Given the description of an element on the screen output the (x, y) to click on. 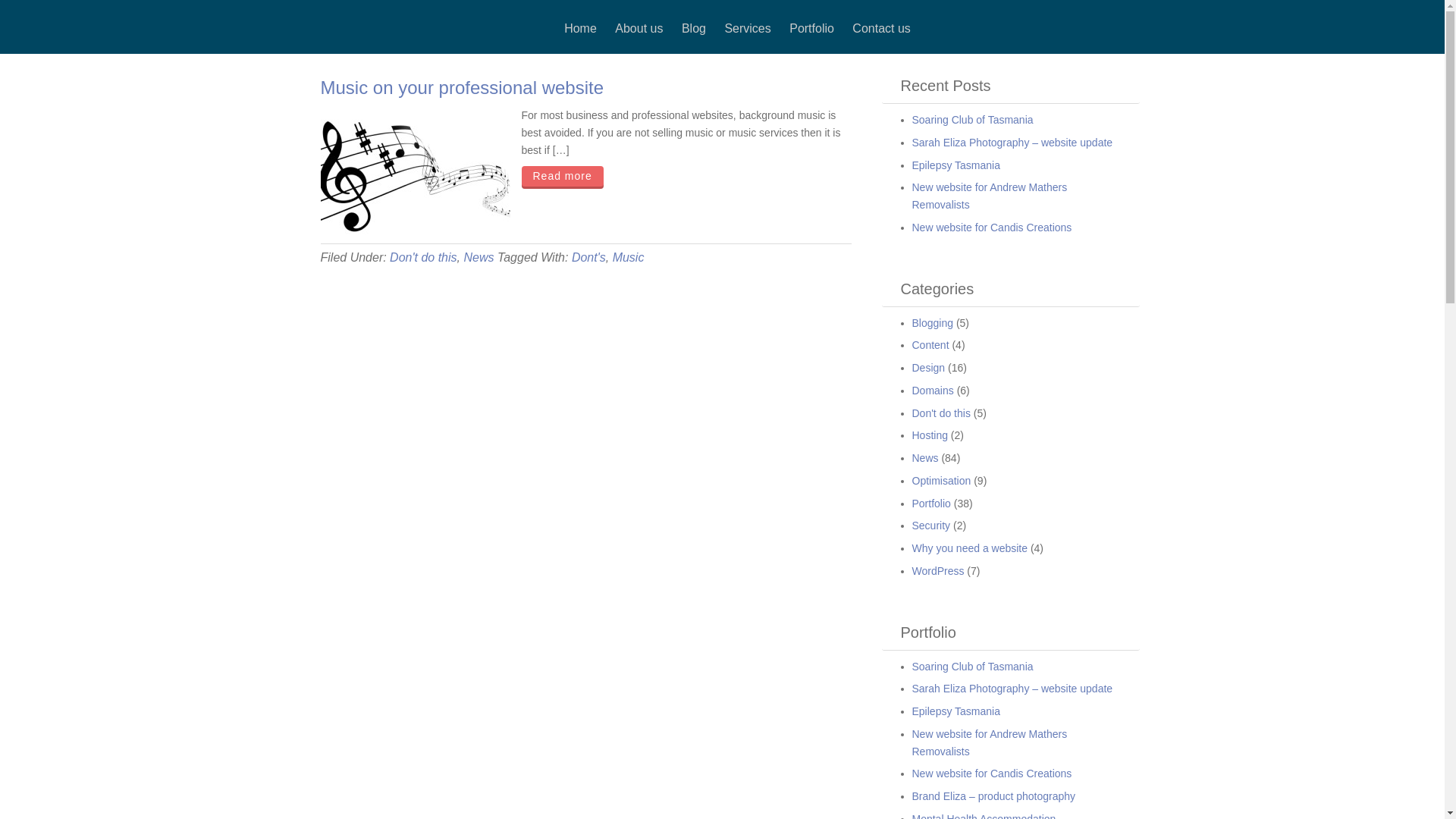
Read more Element type: text (562, 177)
WordPress Element type: text (937, 570)
Portfolio Element type: text (811, 28)
Music on your professional website Element type: text (461, 87)
Security Element type: text (930, 525)
Hosting Element type: text (929, 435)
New website for Andrew Mathers Removalists Element type: text (988, 195)
About us Element type: text (638, 28)
Epilepsy Tasmania Element type: text (955, 711)
Blog Element type: text (693, 28)
Soaring Club of Tasmania Element type: text (971, 665)
Why you need a website Element type: text (969, 548)
News Element type: text (924, 457)
News Element type: text (478, 257)
Don't do this Element type: text (422, 257)
Dont's Element type: text (588, 257)
Blogging Element type: text (932, 322)
Home Element type: text (580, 28)
Content Element type: text (929, 344)
New website for Andrew Mathers Removalists Element type: text (988, 742)
New website for Candis Creations Element type: text (991, 227)
New website for Candis Creations Element type: text (991, 773)
Don't do this Element type: text (940, 412)
Contact us Element type: text (880, 28)
Optimisation Element type: text (940, 480)
Design Element type: text (927, 367)
Epilepsy Tasmania Element type: text (955, 165)
Soaring Club of Tasmania Element type: text (971, 119)
Portfolio Element type: text (930, 503)
Domains Element type: text (932, 390)
Services Element type: text (747, 28)
Music Element type: text (628, 257)
